Given the description of an element on the screen output the (x, y) to click on. 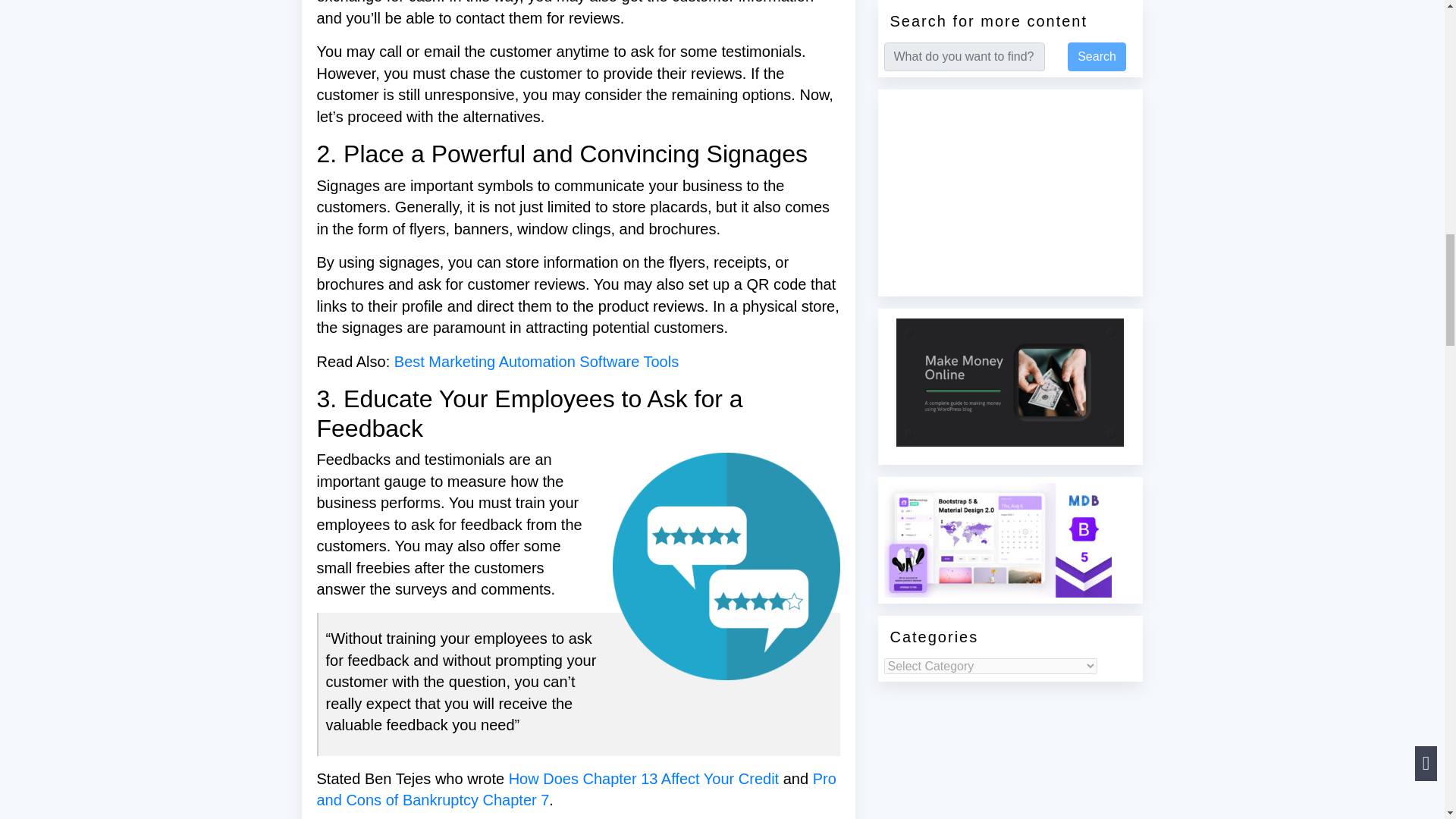
Best Marketing Automation Software Tools (536, 361)
How Does Chapter 13 Affect Your Credit (643, 778)
Pro and Cons of Bankruptcy Chapter 7 (576, 789)
